Given the description of an element on the screen output the (x, y) to click on. 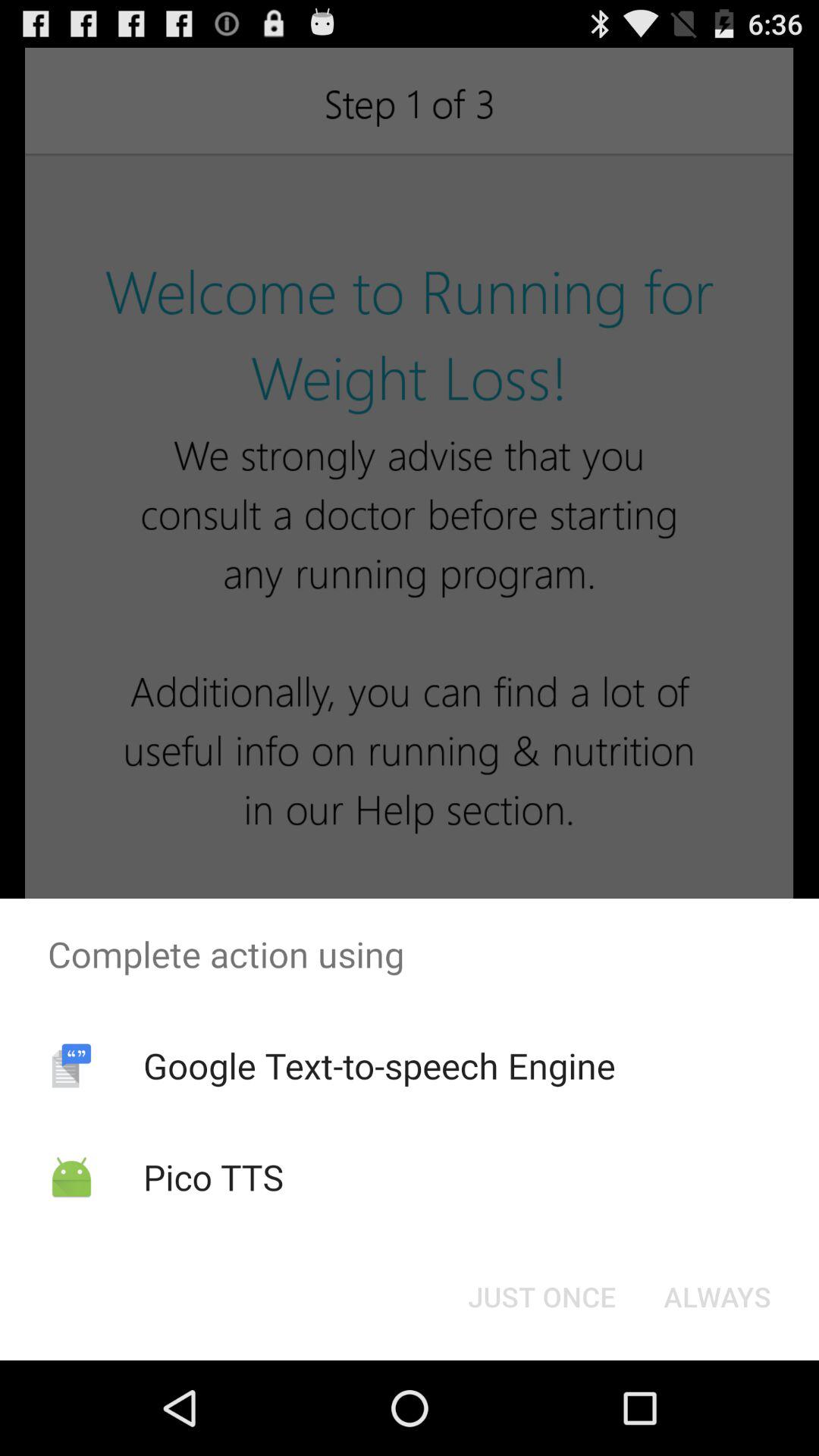
turn on the icon next to always button (541, 1296)
